Given the description of an element on the screen output the (x, y) to click on. 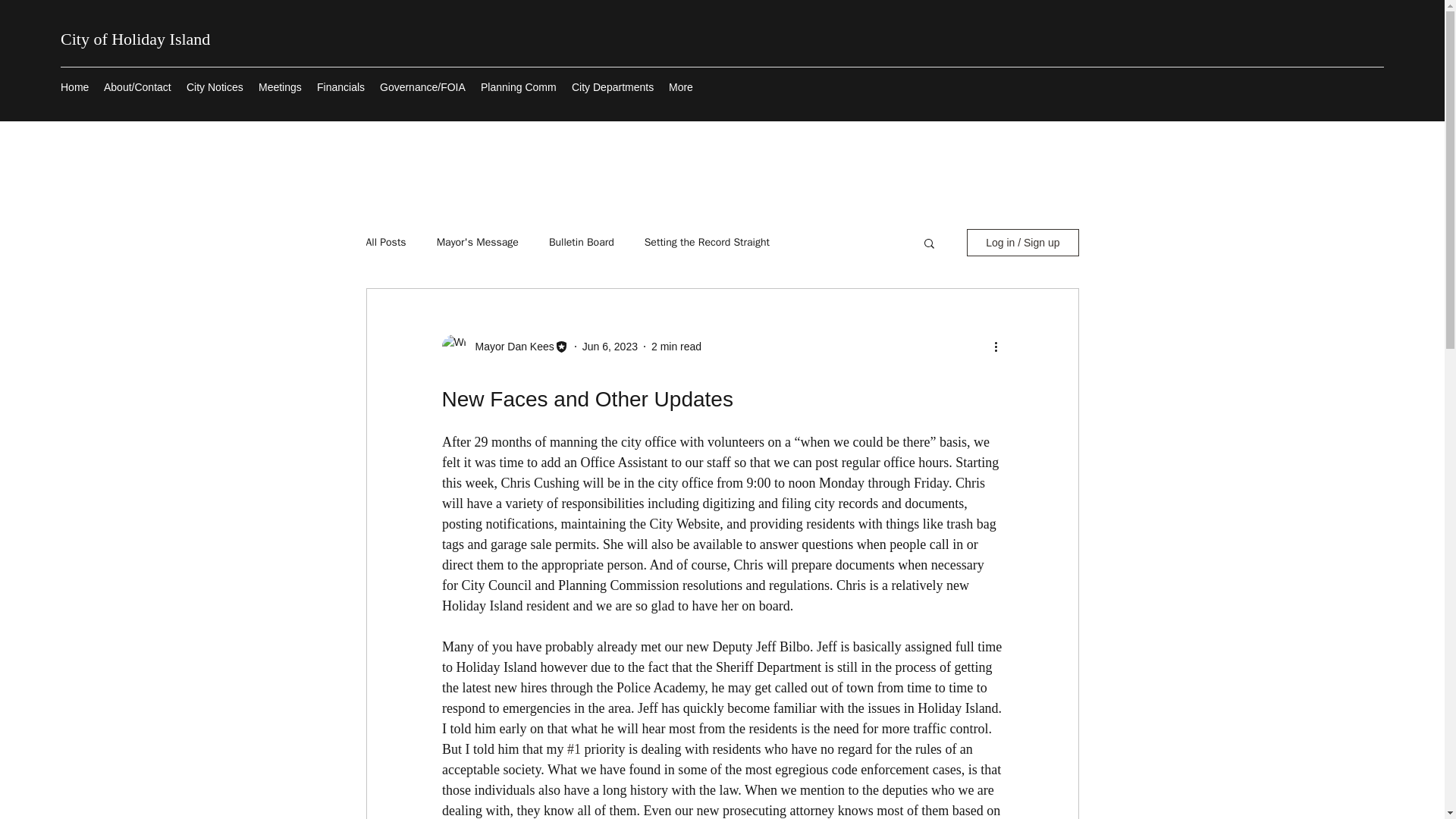
City Notices (214, 87)
Mayor Dan Kees (509, 345)
Meetings (279, 87)
City of Holiday Island (135, 38)
All Posts (385, 242)
Financials (340, 87)
Bulletin Board (581, 242)
Setting the Record Straight (707, 242)
2 min read (675, 345)
Mayor's Message (477, 242)
